Given the description of an element on the screen output the (x, y) to click on. 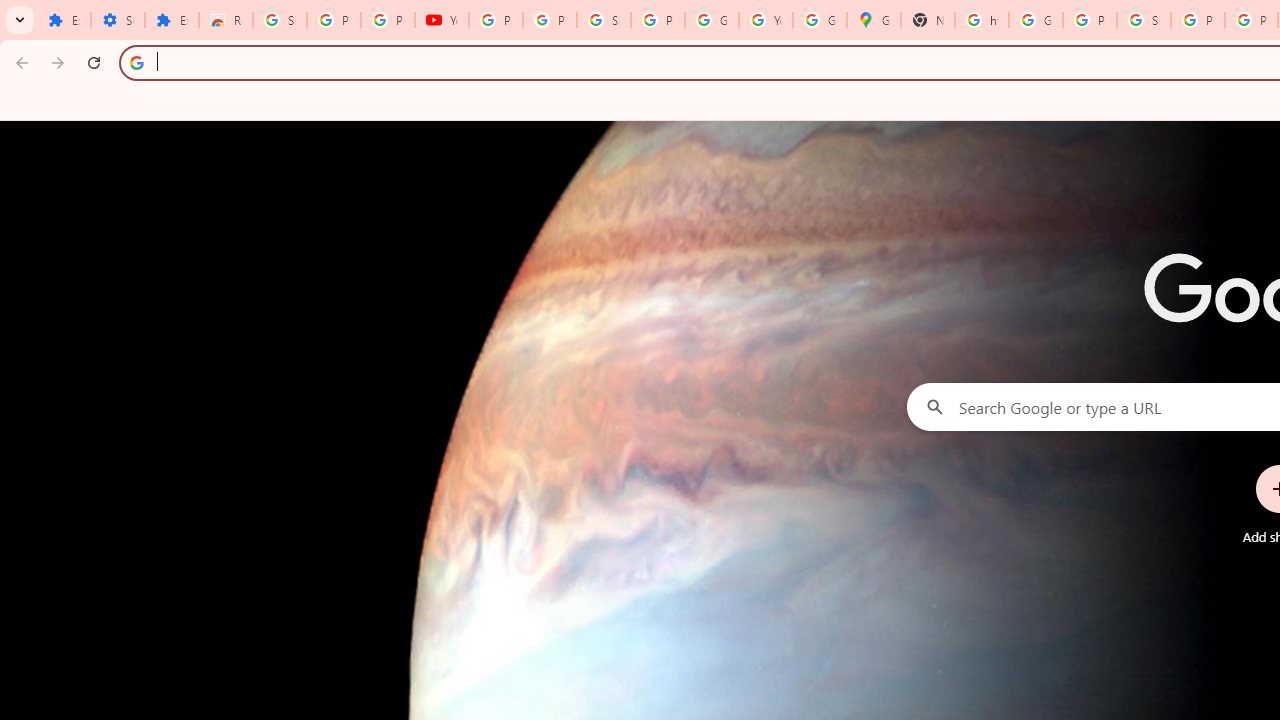
New Tab (927, 20)
Google Maps (874, 20)
https://scholar.google.com/ (981, 20)
YouTube (765, 20)
Extensions (171, 20)
Sign in - Google Accounts (604, 20)
